Given the description of an element on the screen output the (x, y) to click on. 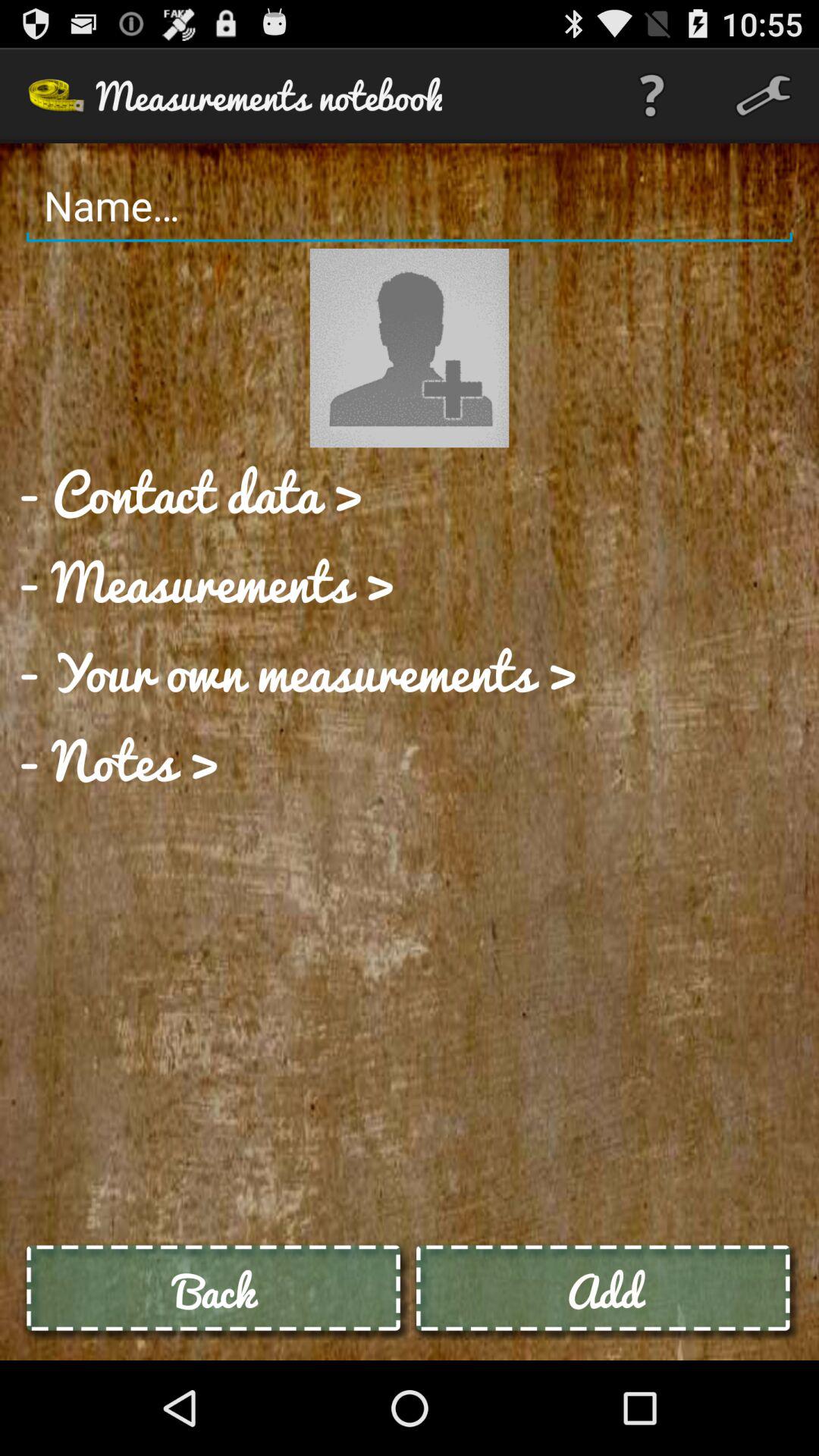
jump to add icon (604, 1290)
